Given the description of an element on the screen output the (x, y) to click on. 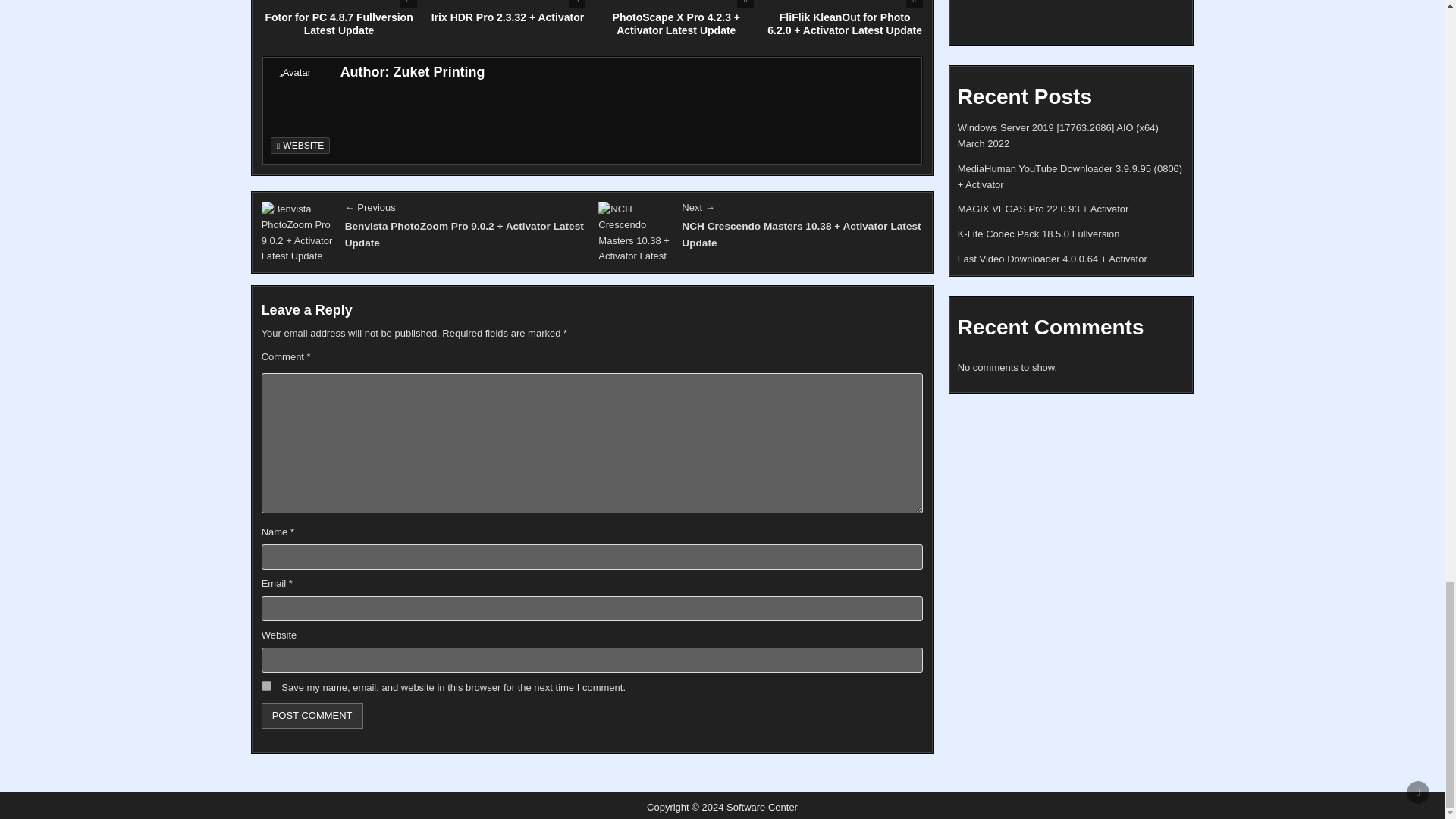
yes (266, 685)
Post Comment (312, 715)
